Given the description of an element on the screen output the (x, y) to click on. 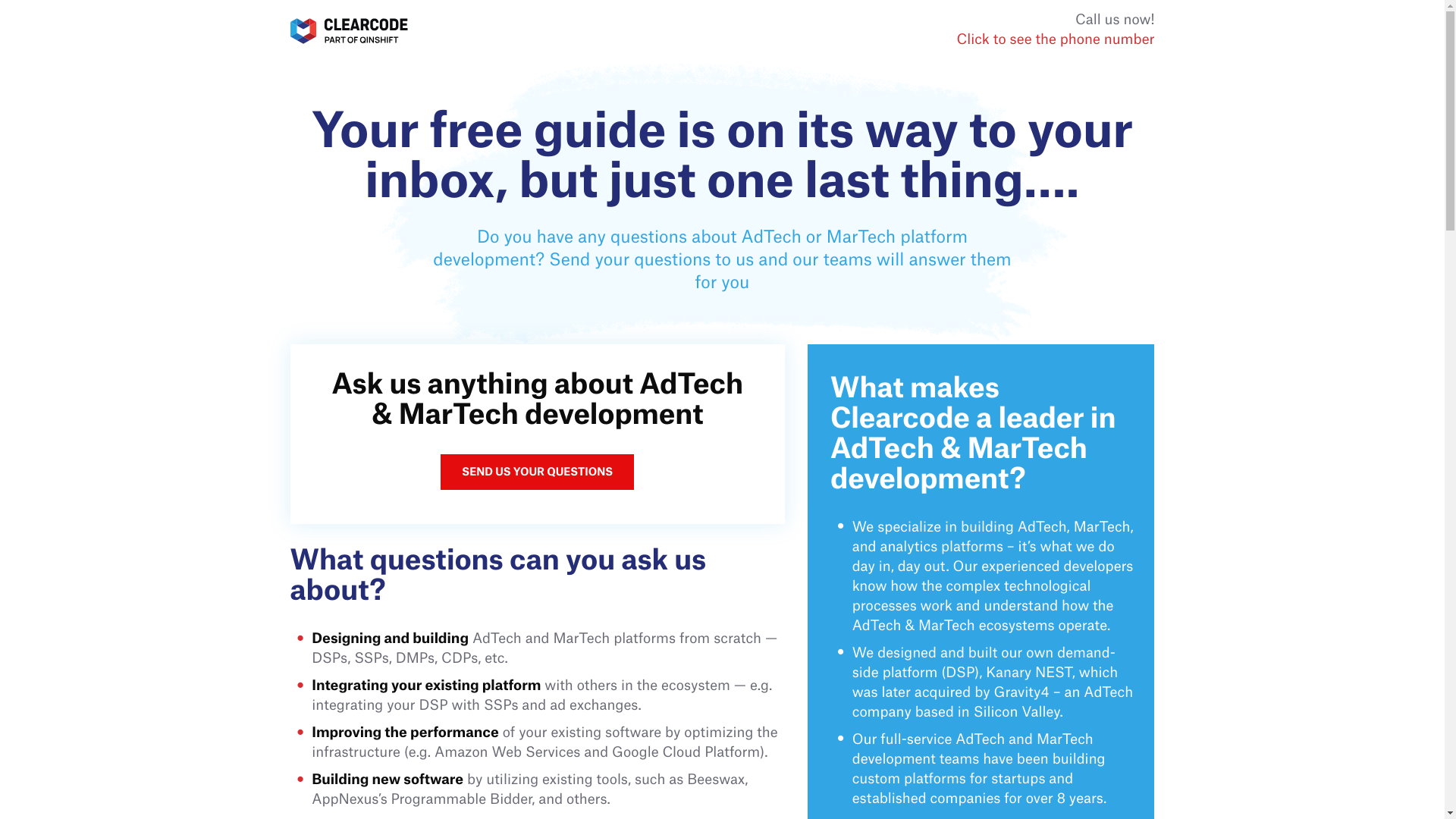
SEND US YOUR QUESTIONS Element type: text (536, 472)
Click to see the phone number Element type: text (1055, 40)
